Given the description of an element on the screen output the (x, y) to click on. 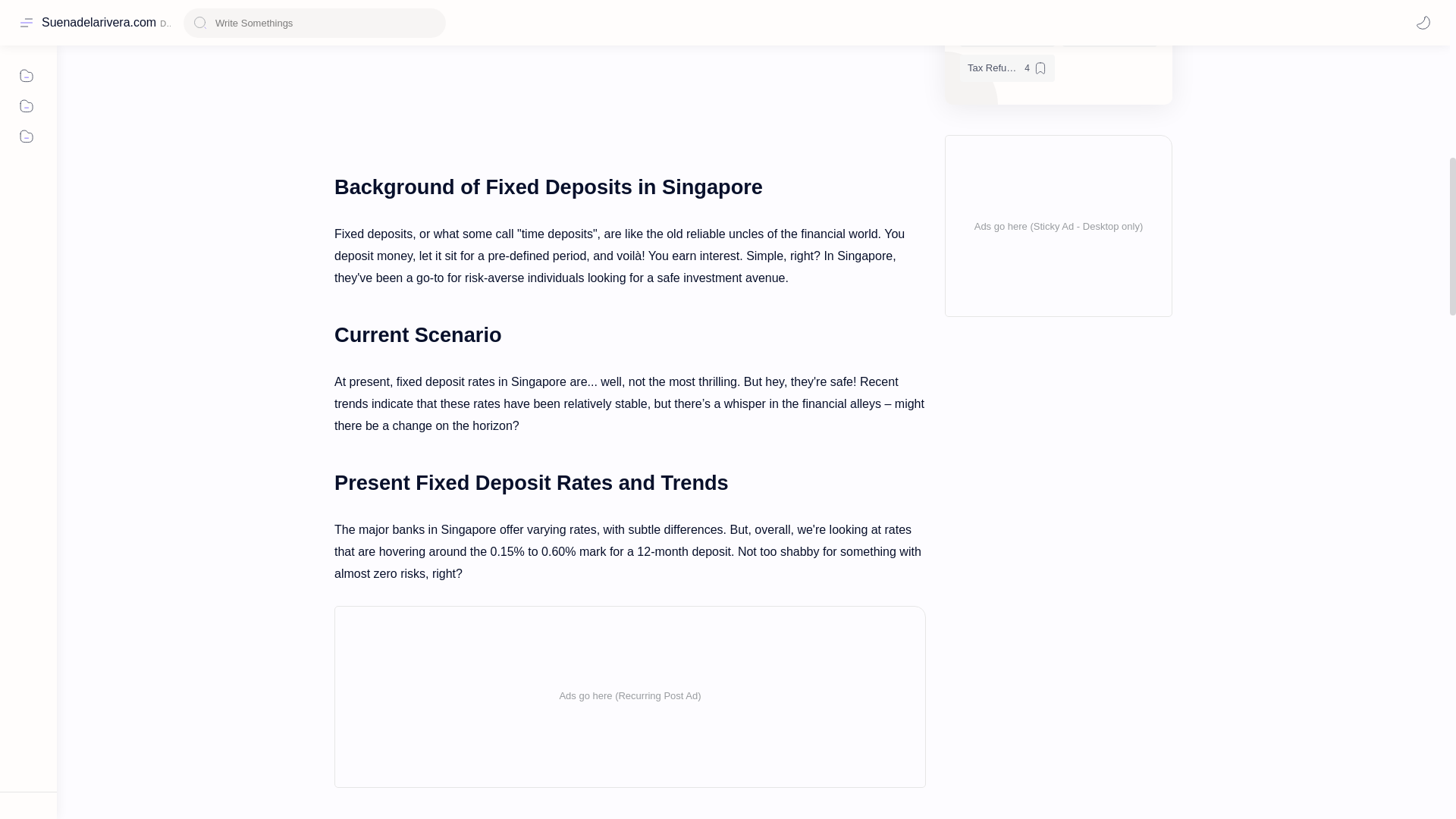
Will Fixed Deposit Rates Increase in Singapore? (576, 79)
